Given the description of an element on the screen output the (x, y) to click on. 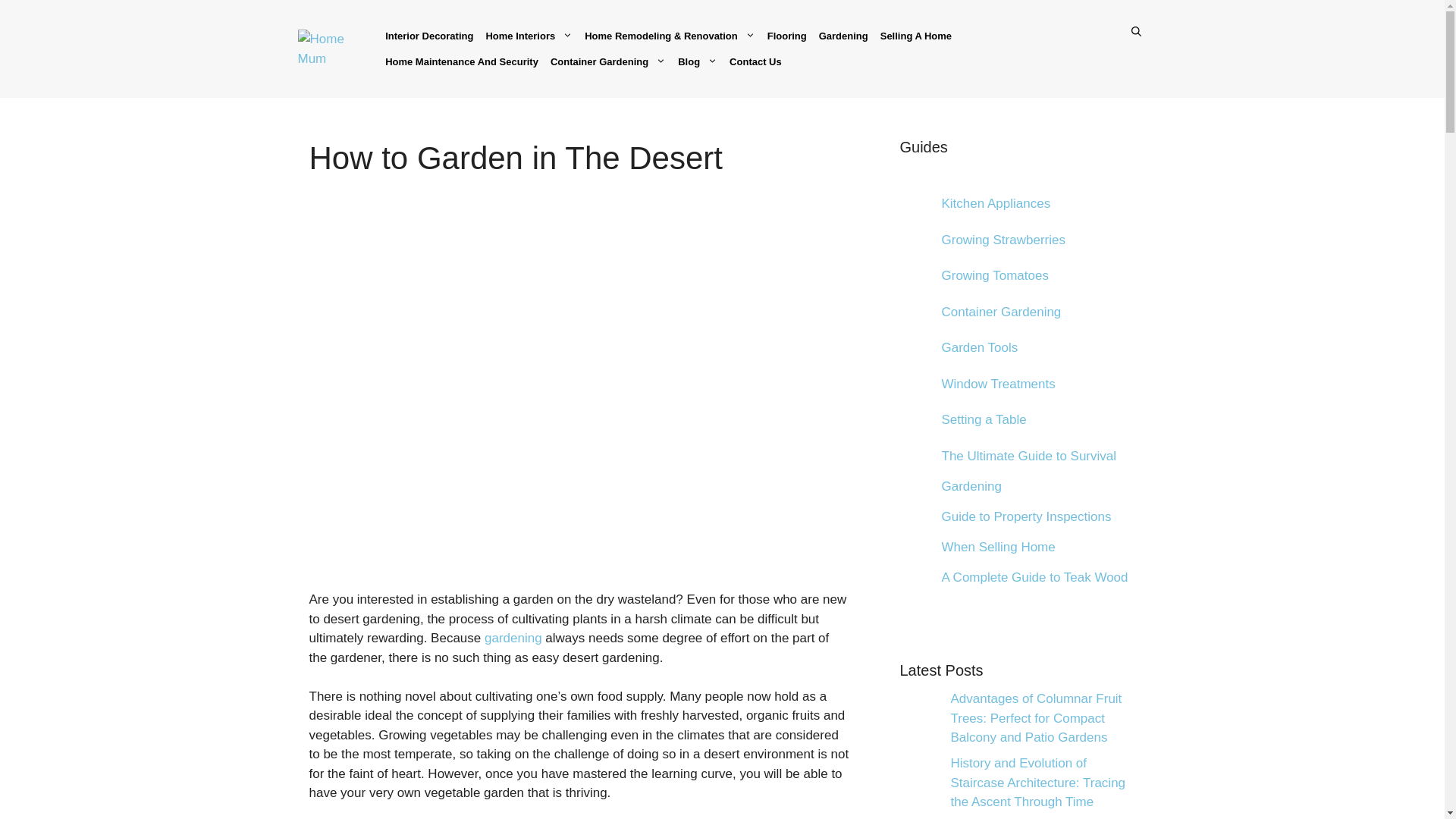
A Complete Guide to Teak Wood (914, 577)
Home Interiors (528, 35)
Flooring (786, 35)
Home Maintenance And Security (461, 61)
Gardening (843, 35)
A Complete Guide to Teak Wood (1035, 577)
Selling A Home (916, 35)
Container Gardening (607, 61)
Blog (697, 61)
The Ultimate Guide to Survival Gardening (1029, 470)
